Given the description of an element on the screen output the (x, y) to click on. 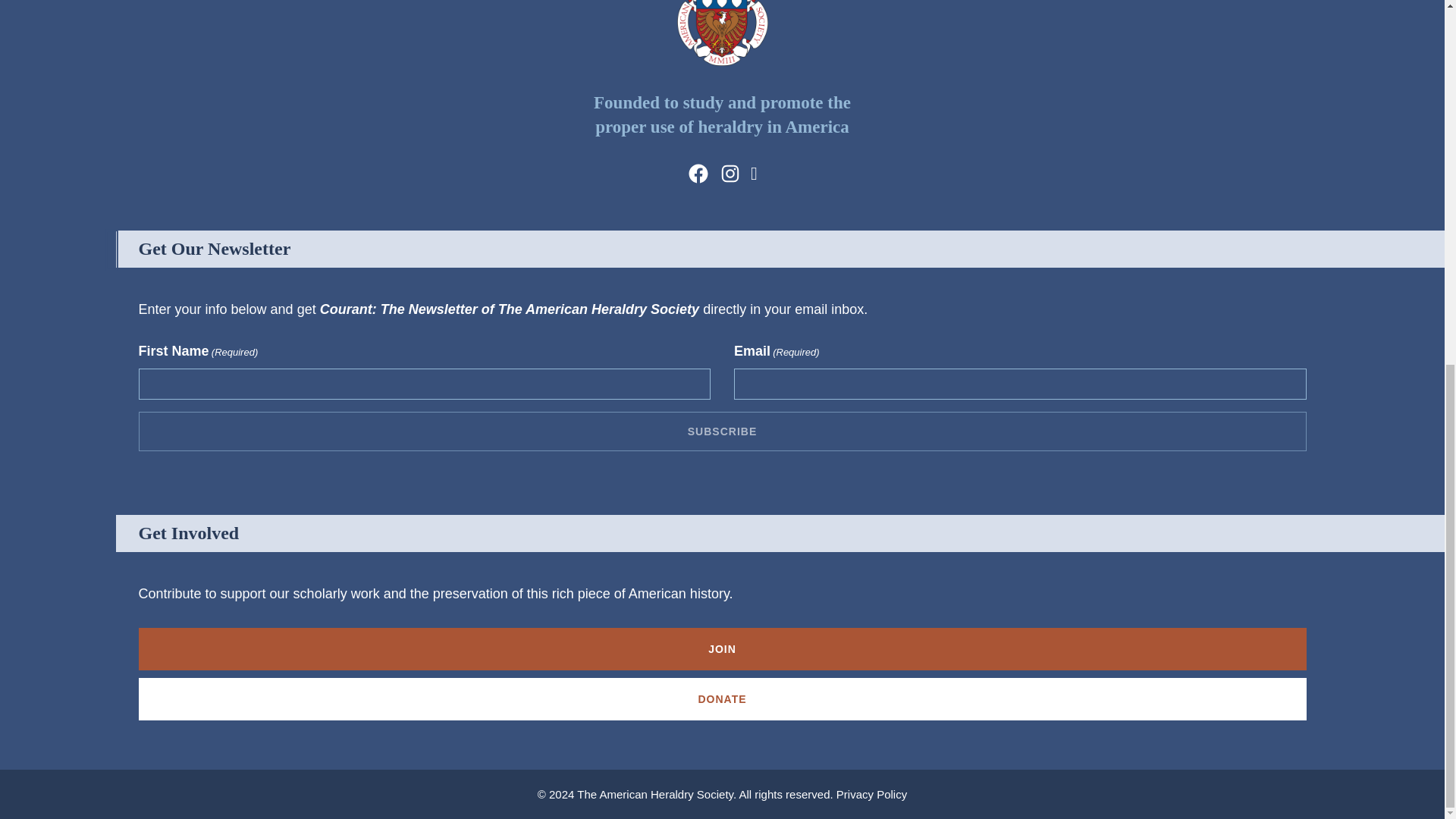
Subscribe (722, 431)
